Given the description of an element on the screen output the (x, y) to click on. 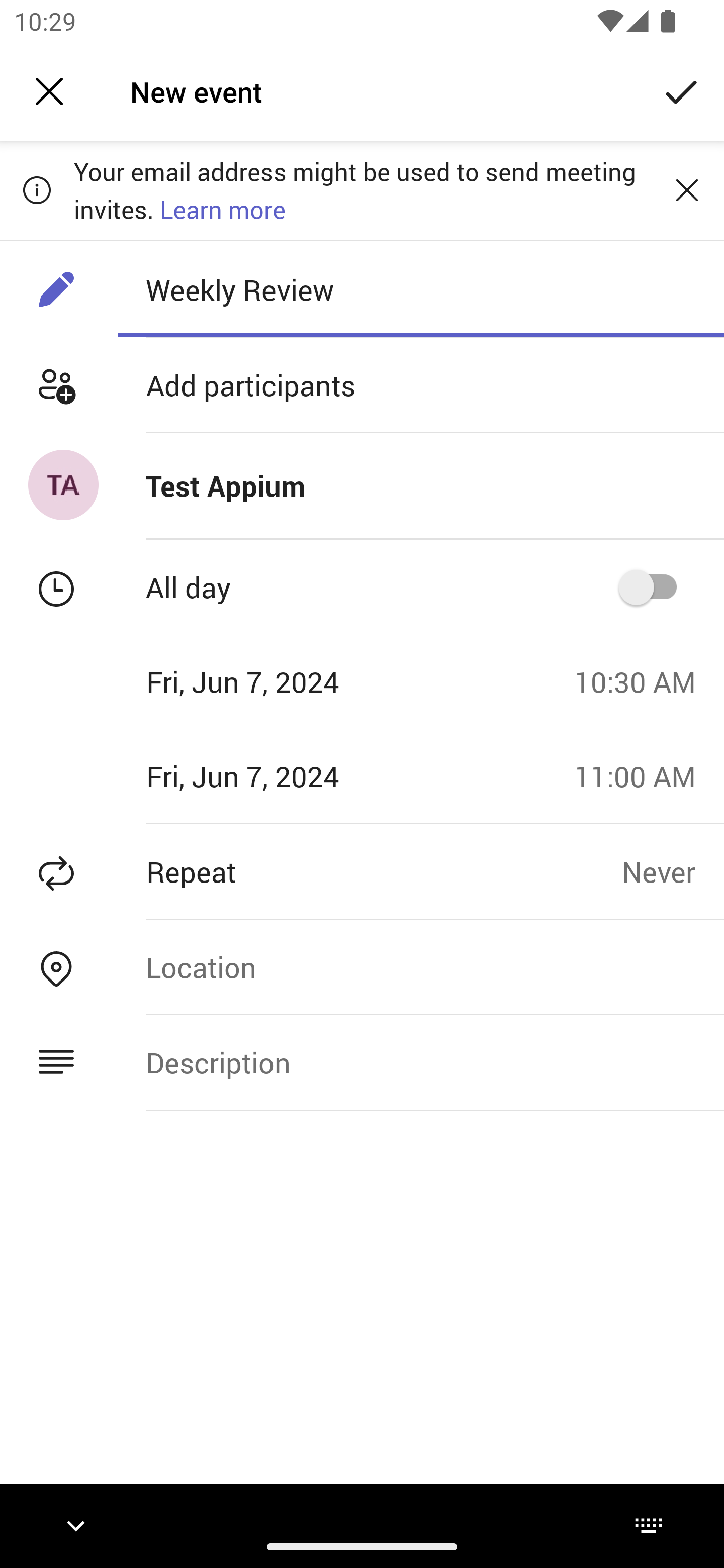
Back (49, 91)
Send invite (681, 90)
Dismiss banner (687, 189)
Weekly Review (420, 289)
Add participants Add participants option (362, 384)
All day (654, 586)
Fri, Jun 7, 2024 Starts Friday Jun 07, 2024 (280, 681)
10:30 AM Start time 10:30 AM (642, 681)
Fri, Jun 7, 2024 Ends Friday Jun 07, 2024 (280, 776)
11:00 AM End time 11:00 AM (642, 776)
Repeat (310, 871)
Never Repeat Never (672, 871)
Location (420, 967)
Description (420, 1062)
